Given the description of an element on the screen output the (x, y) to click on. 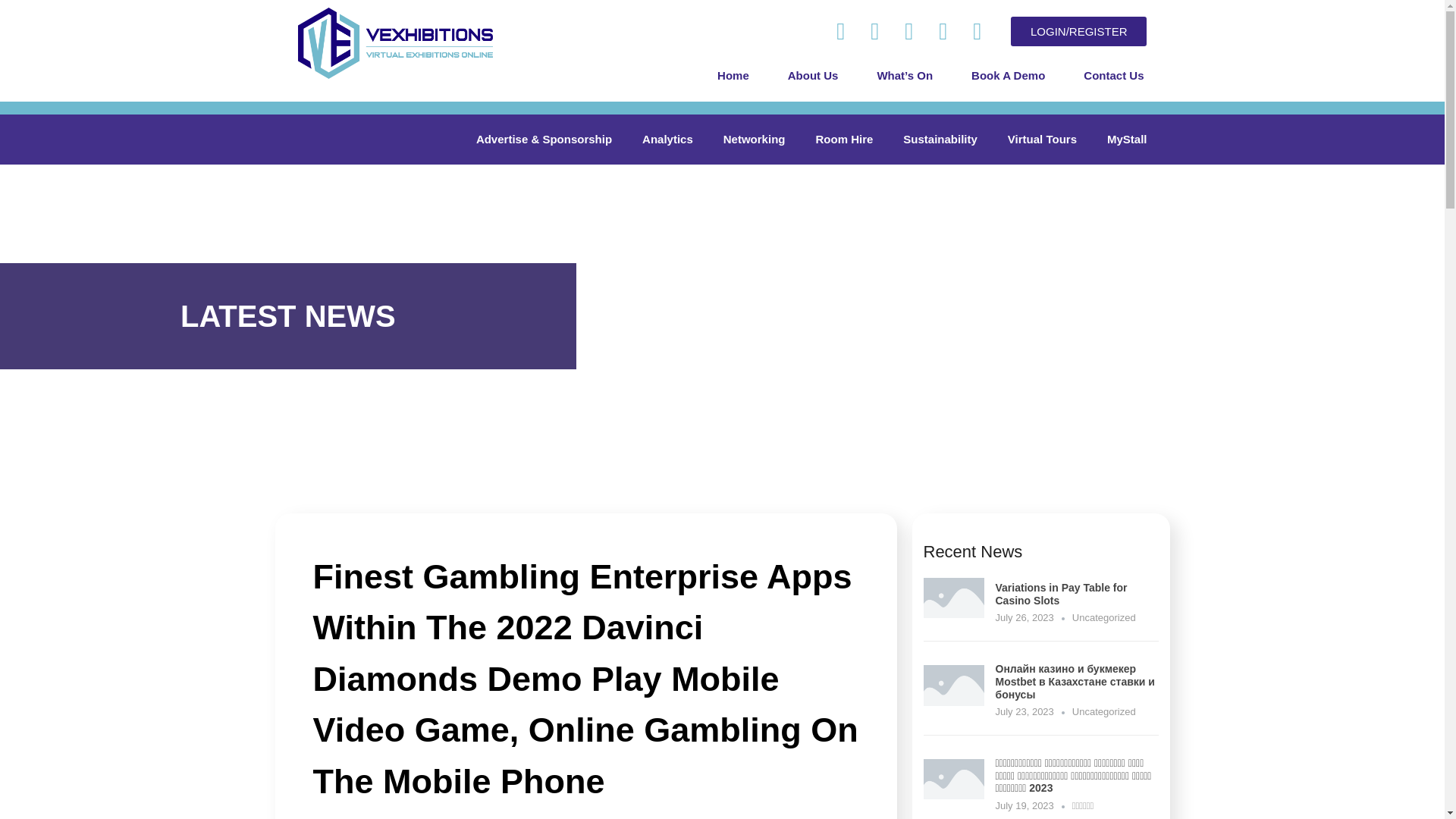
Networking (753, 139)
MyStall (1126, 139)
Variations in Pay Table for Casino Slots (1060, 593)
Room Hire (843, 139)
Analytics (667, 139)
Home (732, 75)
About Us (813, 75)
Book A Demo (1007, 75)
Variations in Pay Table for Casino Slots (953, 613)
Virtual Tours (1042, 139)
